Given the description of an element on the screen output the (x, y) to click on. 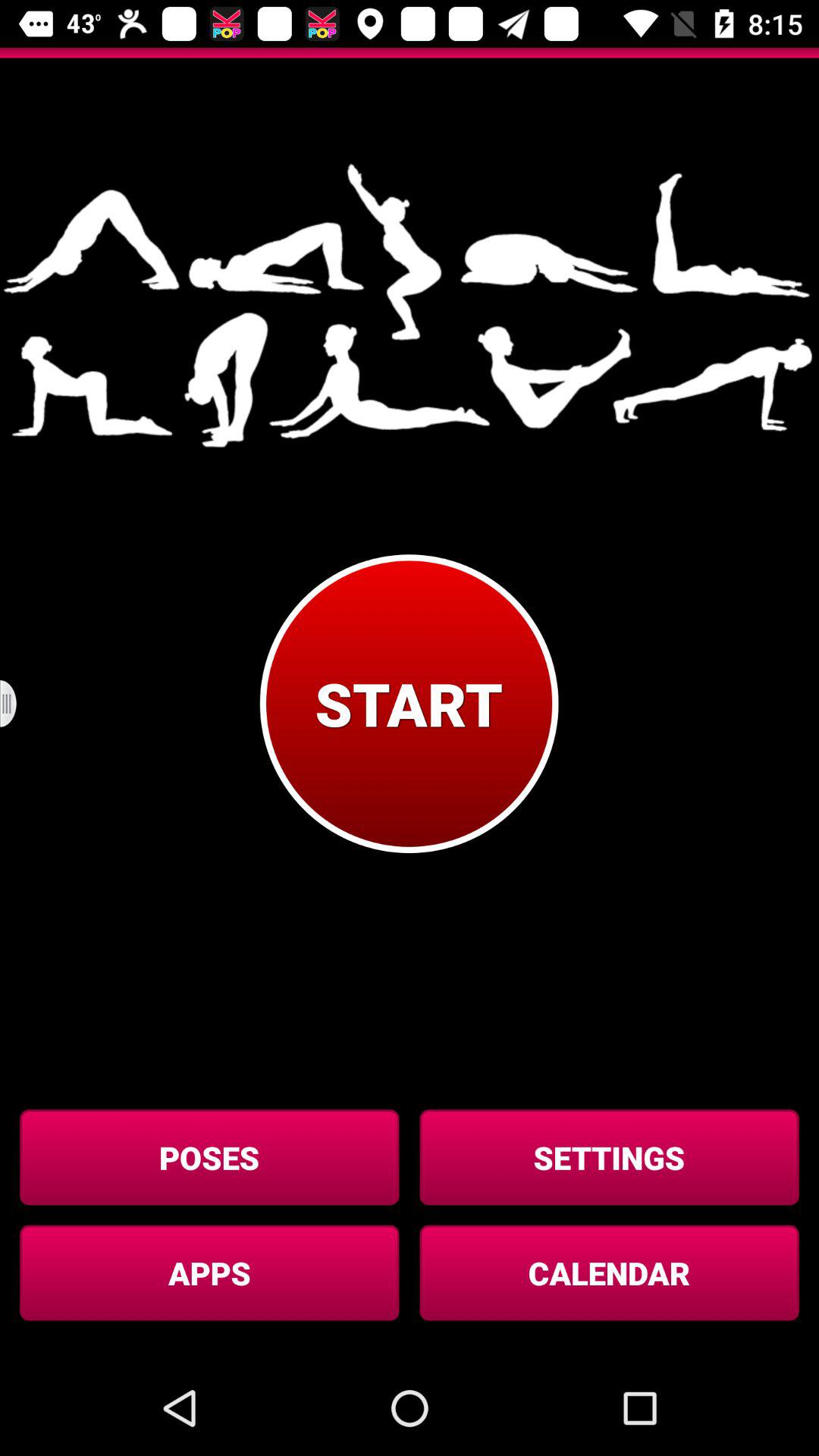
scroll until the calendar (609, 1272)
